Given the description of an element on the screen output the (x, y) to click on. 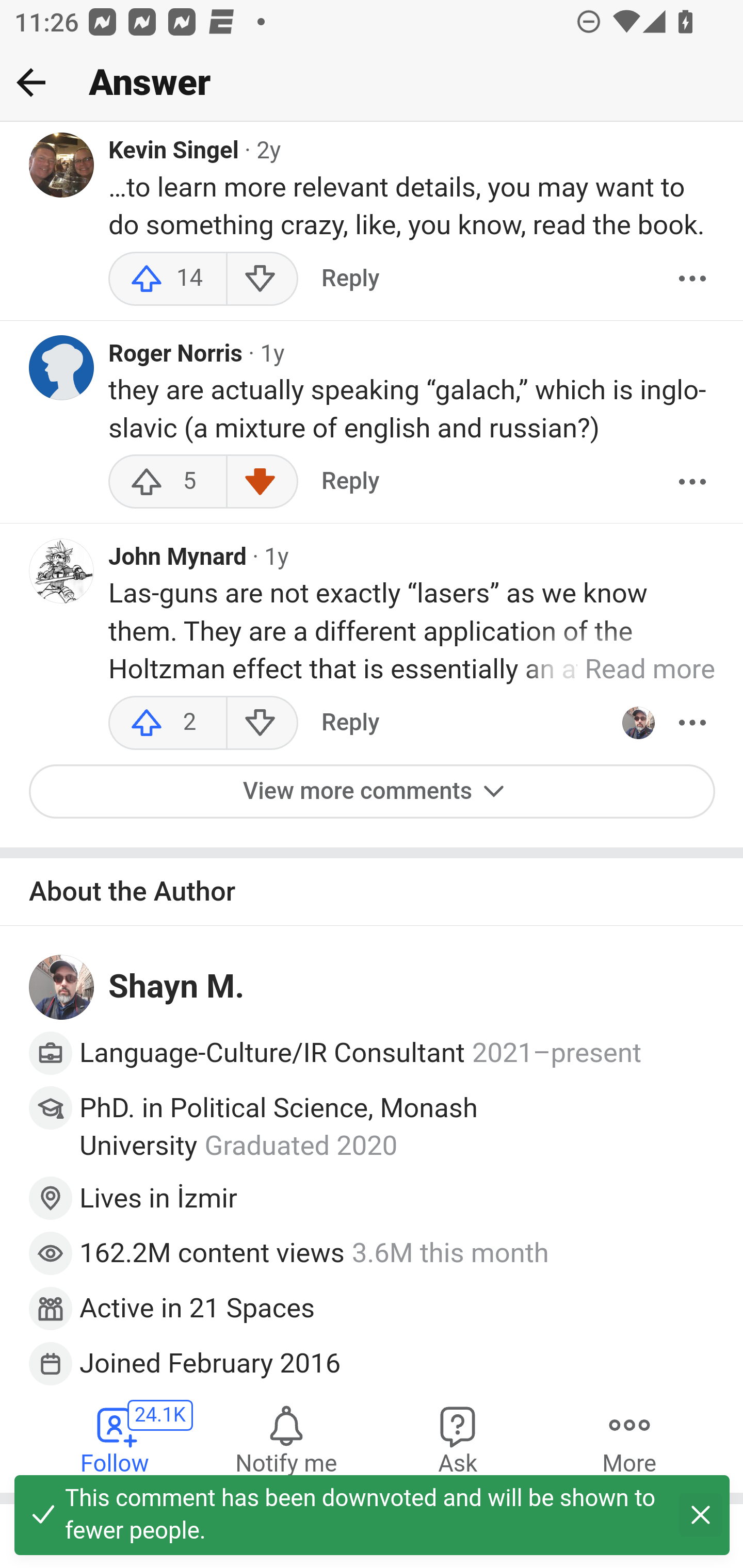
Back (30, 82)
Profile photo for Kevin Singel (61, 166)
Kevin Singel (173, 152)
14 upvotes (167, 279)
Downvote (261, 279)
Reply (350, 279)
More (691, 279)
Profile photo for Roger Norris (61, 368)
Roger Norris (175, 355)
5 upvotes (167, 482)
Downvote (261, 482)
Reply (350, 482)
More (691, 482)
Profile photo for John Mynard (61, 571)
John Mynard (177, 558)
2 upvotes (167, 723)
Downvote (261, 723)
Reply (350, 723)
Profile photo for Shayn M. (638, 723)
More (691, 723)
View more comments (372, 792)
Profile photo for Shayn M. (61, 987)
Shayn M. (176, 987)
Follow Shayn M. 24.1K Follow (115, 1440)
Notify me (285, 1440)
Ask (458, 1440)
More (628, 1440)
